Given the description of an element on the screen output the (x, y) to click on. 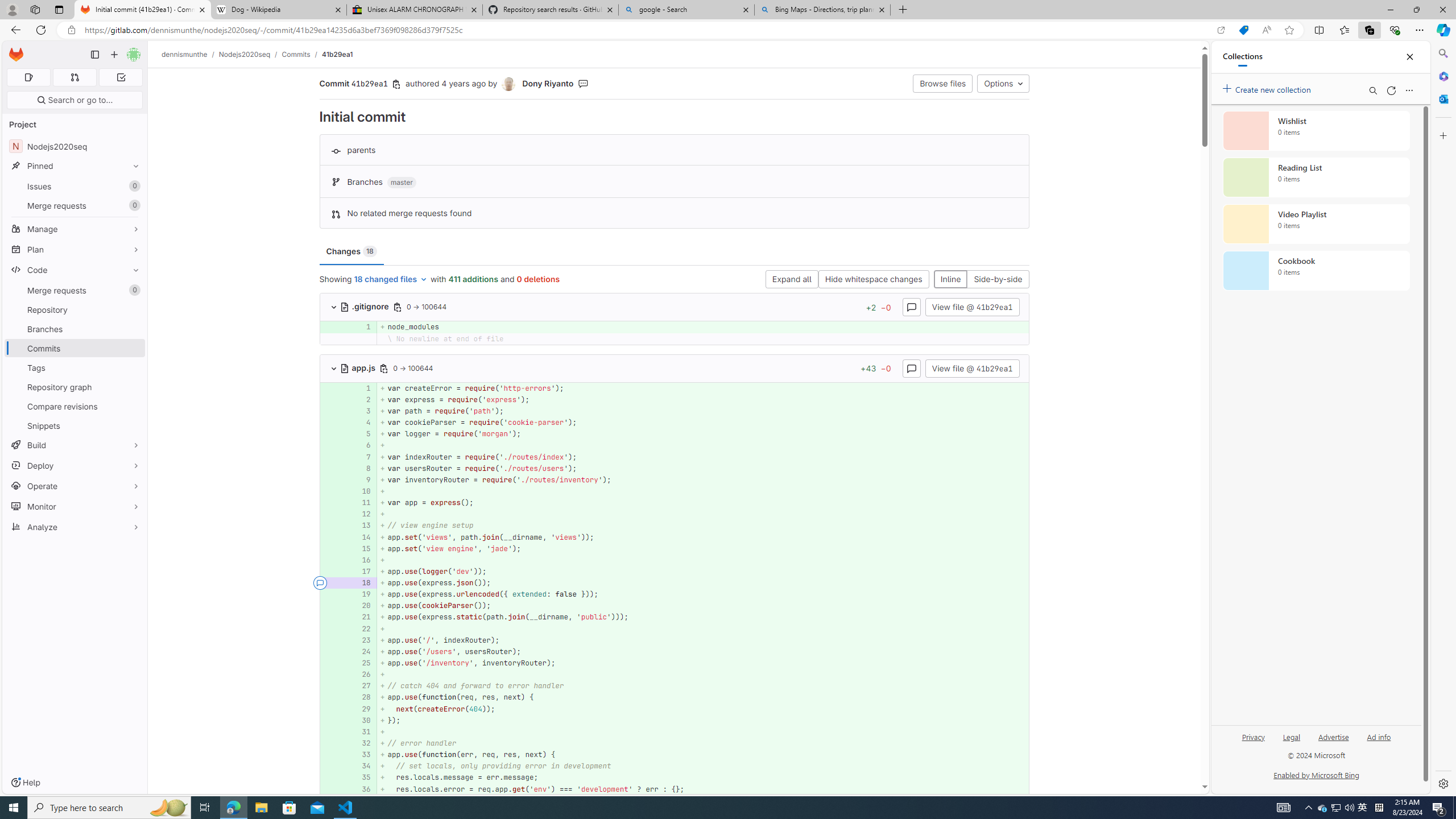
AutomationID: 4a68969ef8e858229267b842dedf42ab5dde4d50_0_4 (674, 422)
Operate (74, 485)
22 (362, 628)
AutomationID: 4a68969ef8e858229267b842dedf42ab5dde4d50_0_15 (674, 548)
Class: s16 gl-icon gl-button-icon  (911, 368)
28 (360, 697)
2 (362, 399)
Monitor (74, 506)
Deploy (74, 465)
AutomationID: 4a68969ef8e858229267b842dedf42ab5dde4d50_0_7 (674, 456)
+ var createError = require('http-errors');  (703, 387)
24 (360, 651)
Compare revisions (74, 406)
+ app.use(express.json());  (703, 582)
